Given the description of an element on the screen output the (x, y) to click on. 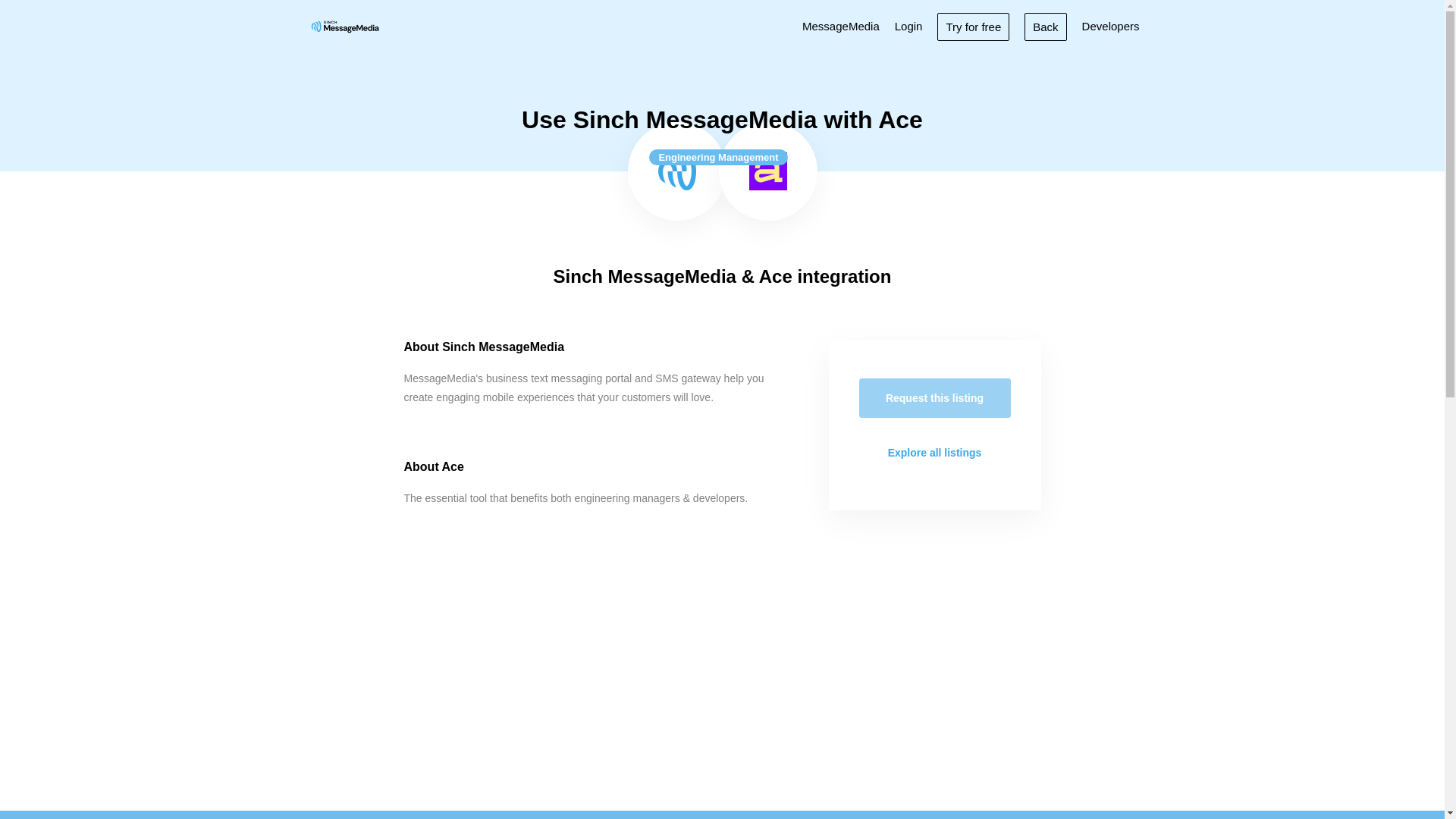
Developers (1110, 25)
Sinch MessageMedia (344, 26)
Try for free (973, 26)
Explore all listings (934, 452)
Back (1045, 26)
Login (909, 25)
MessageMedia (840, 25)
Request this listing (934, 397)
Sinch MessageMedia (676, 171)
Ace (768, 171)
